Given the description of an element on the screen output the (x, y) to click on. 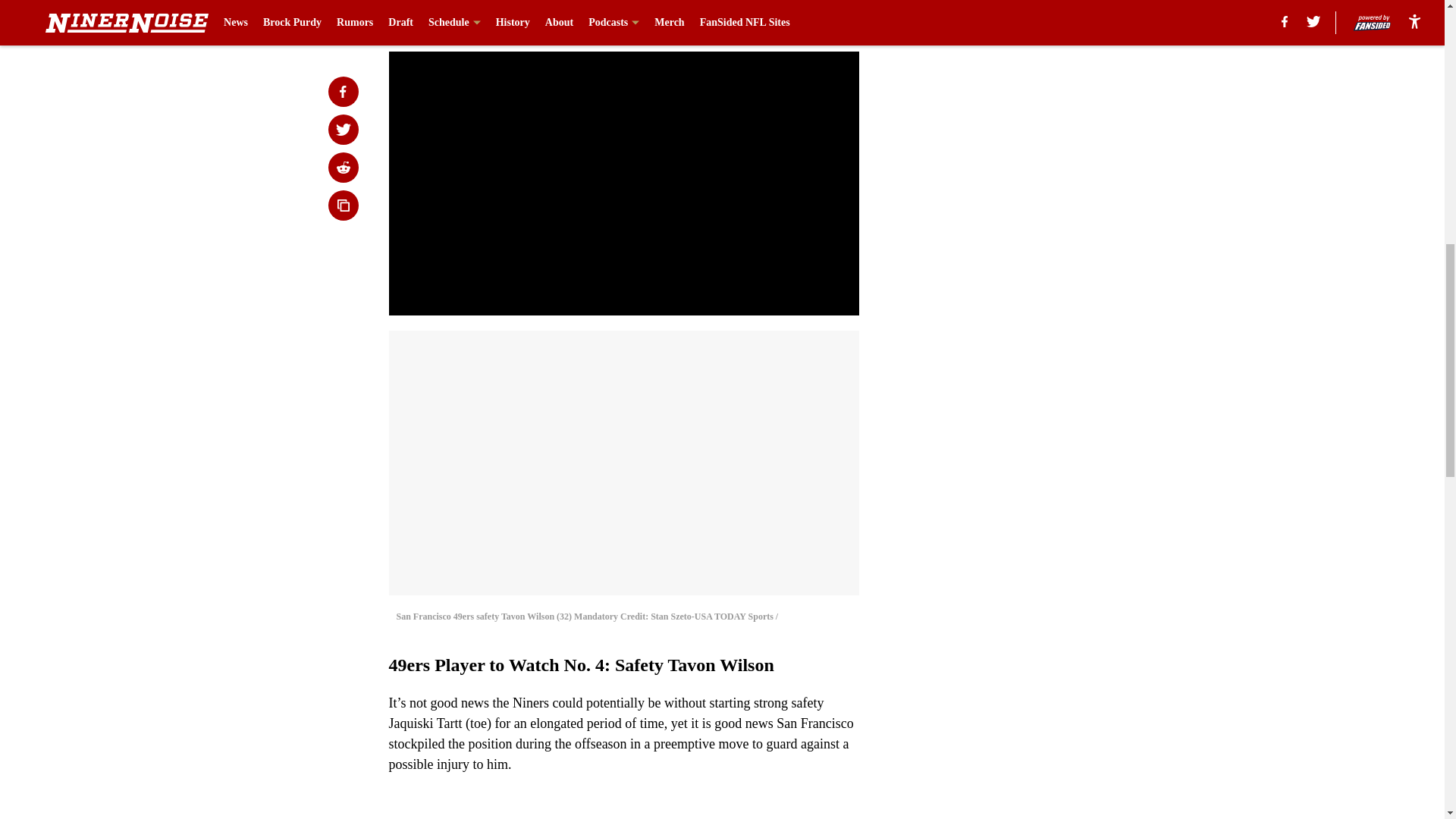
3rd party ad content (1047, 320)
3rd party ad content (1047, 100)
Prev (433, 20)
Next (813, 20)
